Given the description of an element on the screen output the (x, y) to click on. 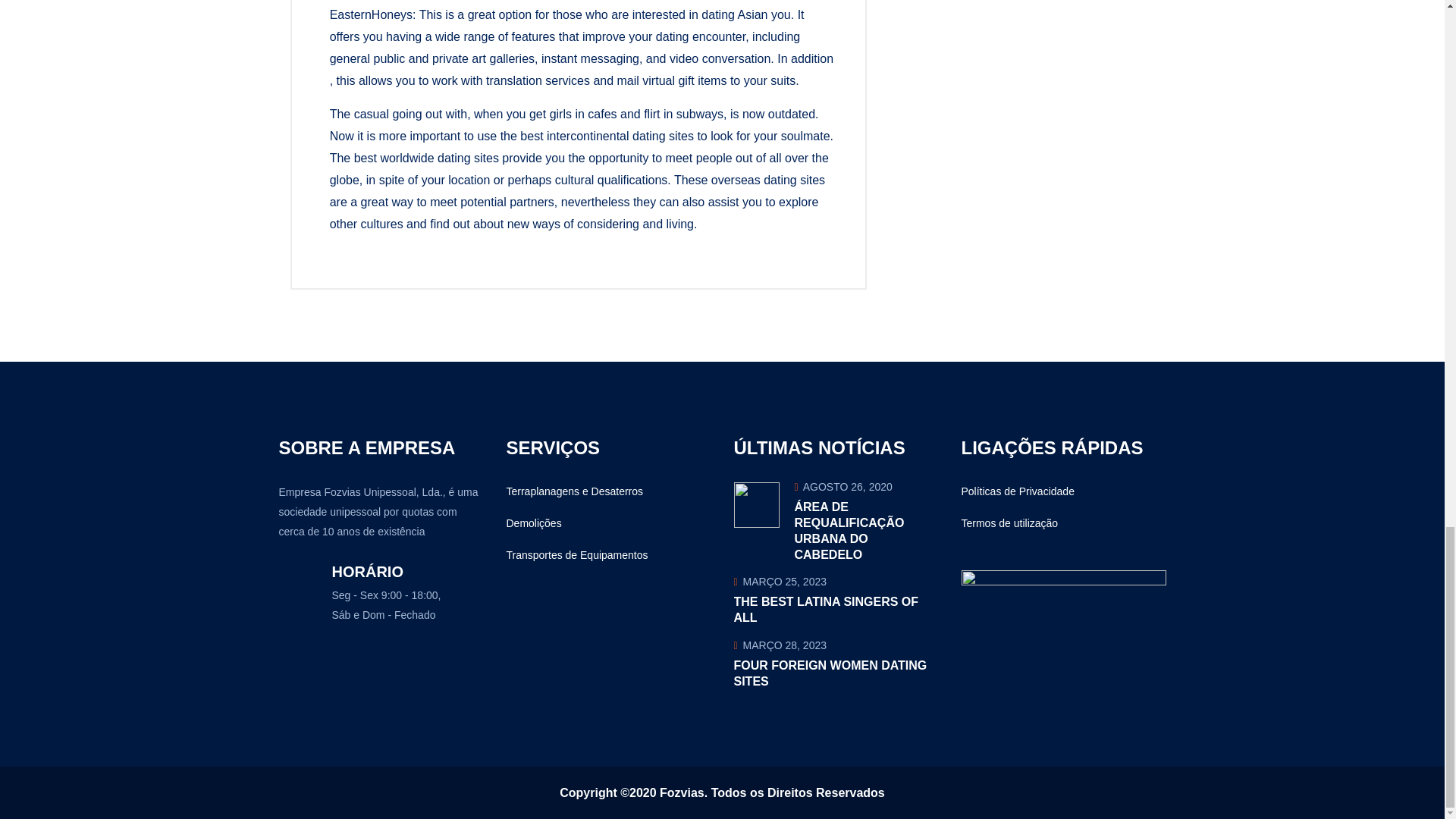
FOUR FOREIGN WOMEN DATING SITES (830, 673)
Terraplanagens e Desaterros (574, 491)
Transportes de Equipamentos (576, 555)
THE BEST LATINA SINGERS OF ALL (825, 609)
